Given the description of an element on the screen output the (x, y) to click on. 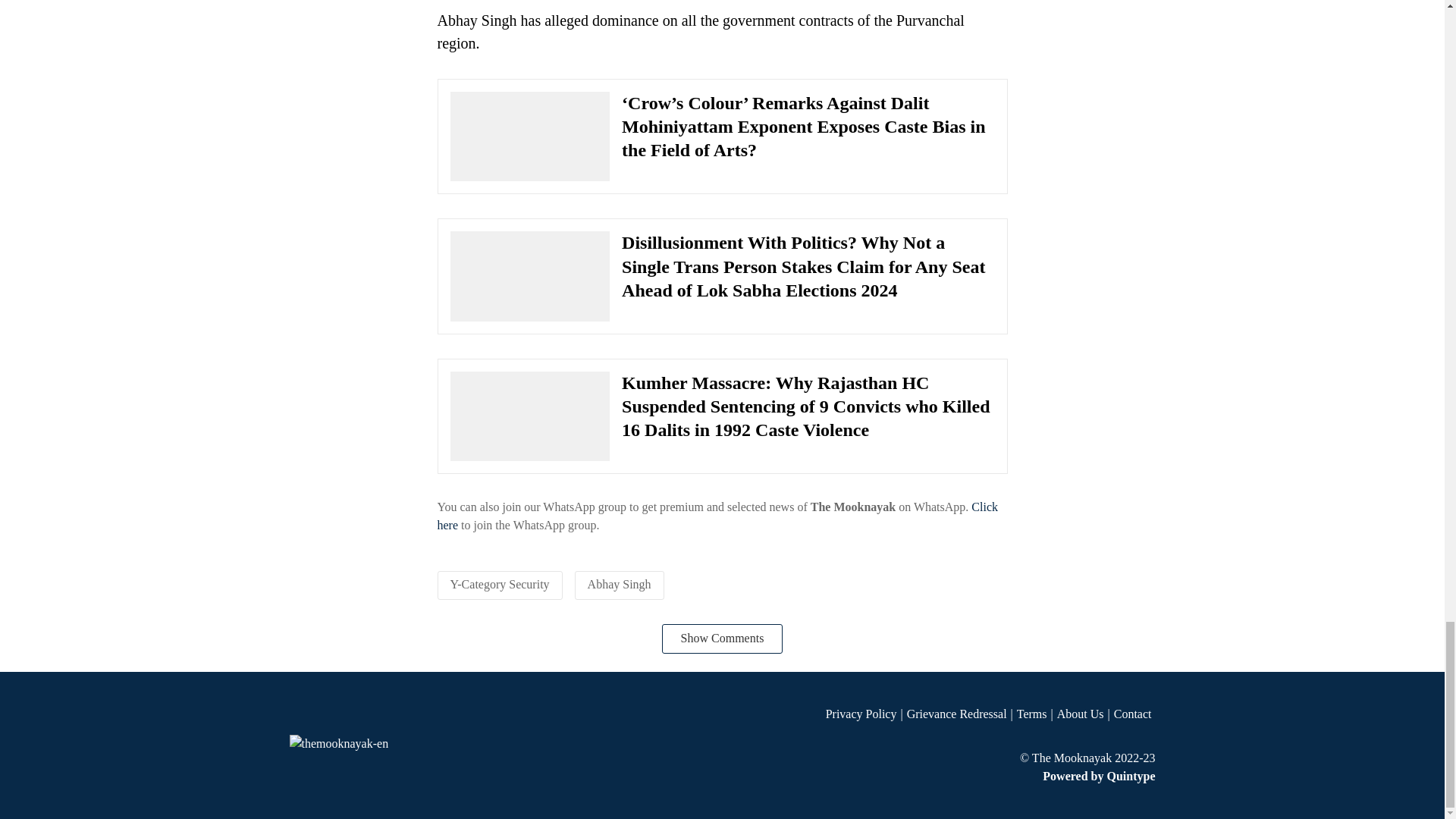
Click here (716, 515)
Abhay Singh (619, 584)
Y-Category Security (499, 584)
Show Comments (722, 638)
Privacy Policy (866, 713)
Terms (1036, 713)
Grievance Redressal (961, 713)
